Given the description of an element on the screen output the (x, y) to click on. 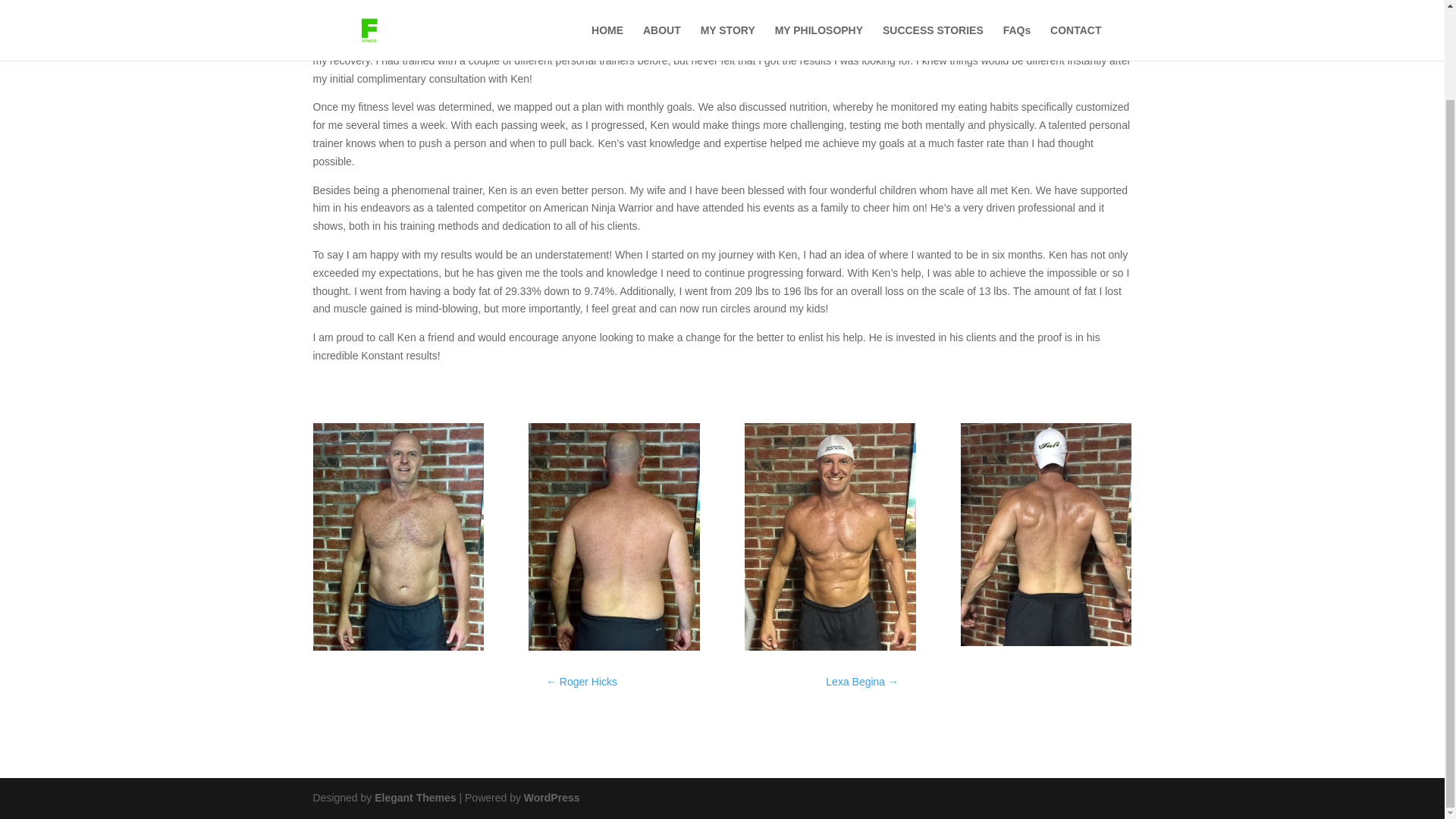
WordPress (551, 797)
Premium WordPress Themes (414, 797)
Elegant Themes (414, 797)
